Given the description of an element on the screen output the (x, y) to click on. 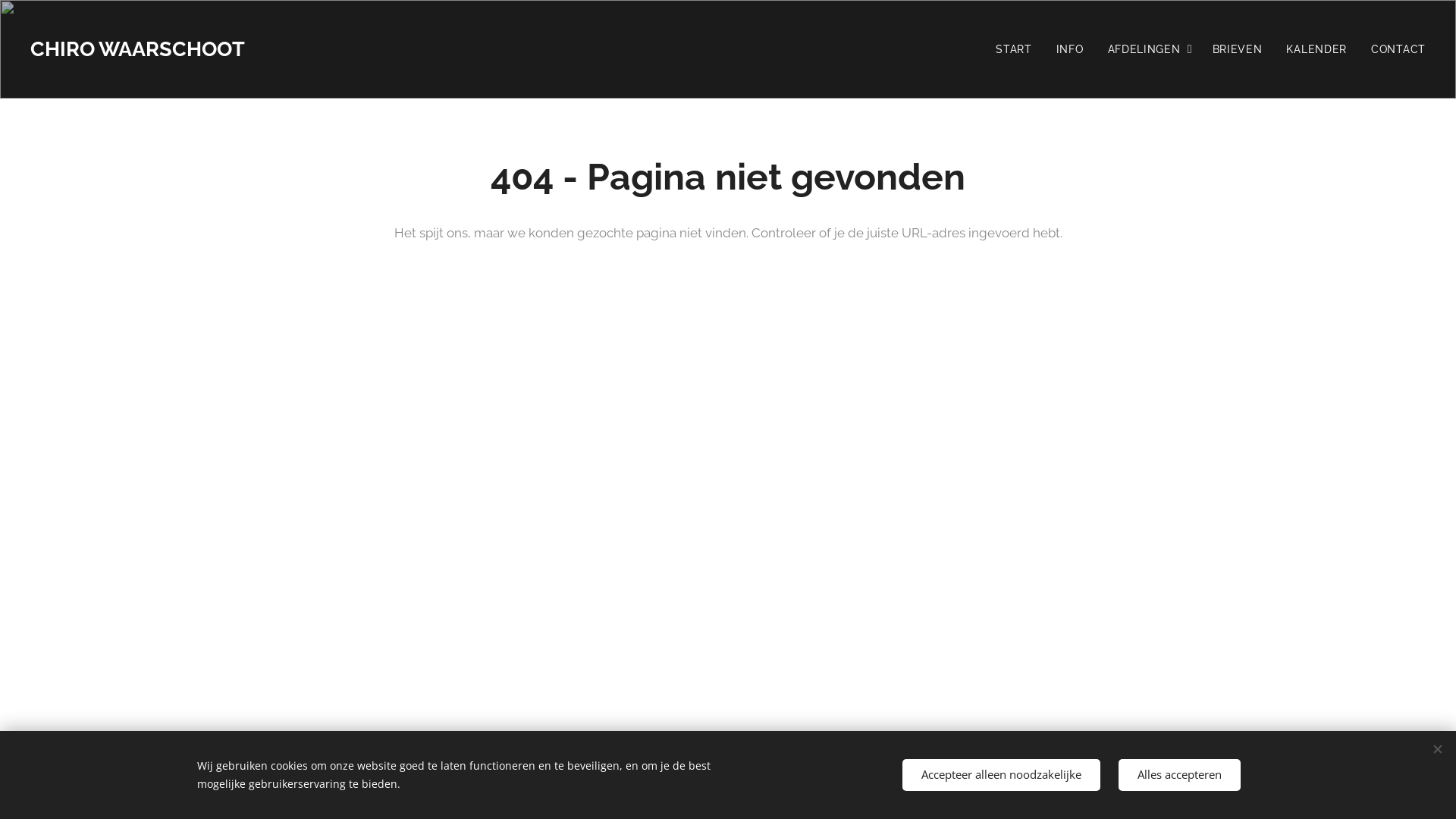
CONTACT Element type: text (1391, 49)
KALENDER Element type: text (1316, 49)
info@chirowaarschoot.be Element type: text (700, 784)
Alles accepteren Element type: text (1179, 774)
BRIEVEN Element type: text (1237, 49)
AFDELINGEN Element type: text (1147, 49)
Cookies Element type: text (797, 784)
Accepteer alleen noodzakelijke Element type: text (1001, 774)
START Element type: text (1017, 49)
CHIRO WAARSCHOOT  Element type: text (139, 48)
INFO Element type: text (1069, 49)
